Given the description of an element on the screen output the (x, y) to click on. 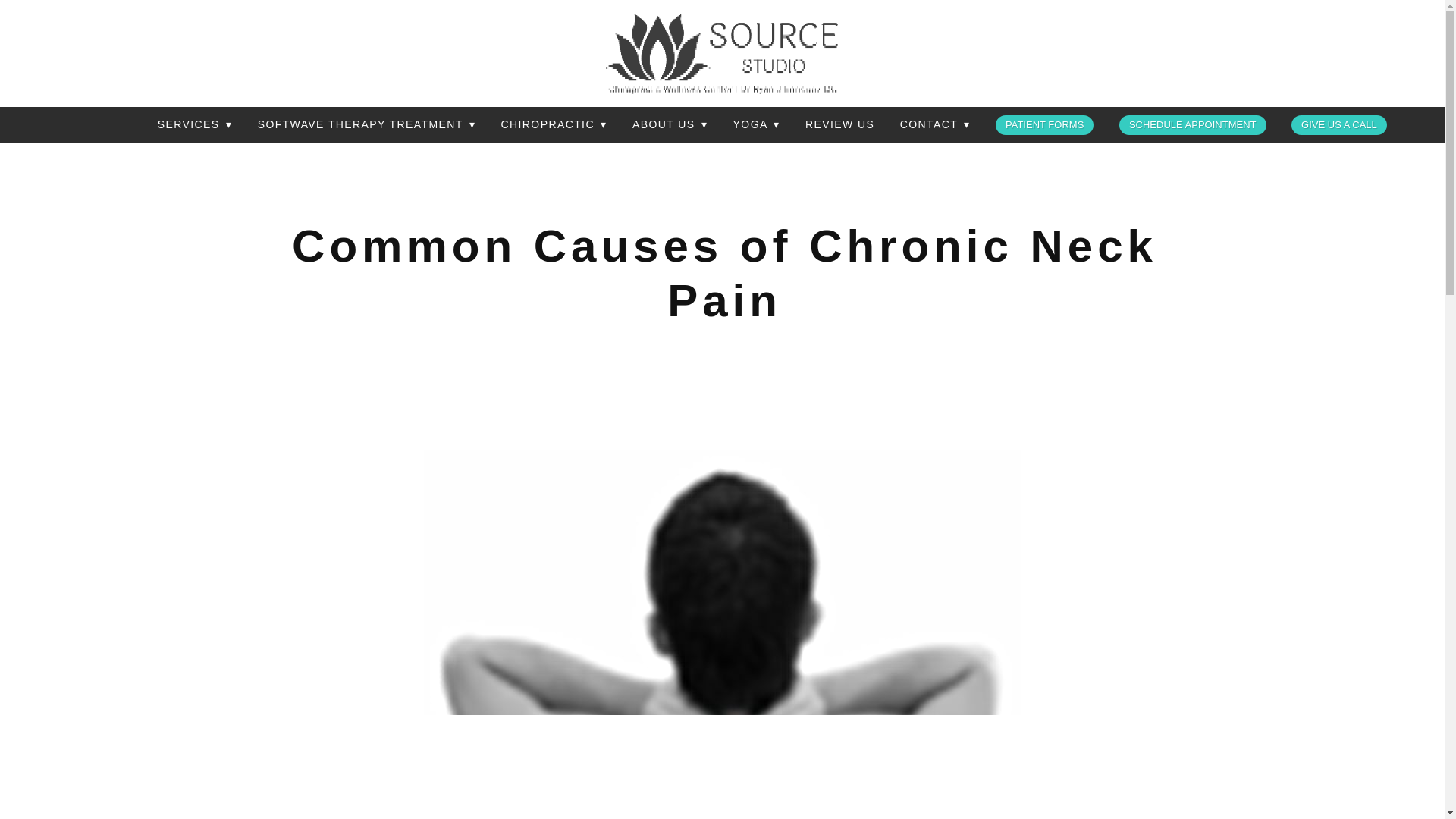
SCHEDULE APPOINTMENT (1192, 125)
PATIENT FORMS (1044, 125)
Source Studio (722, 53)
GIVE US A CALL (1339, 125)
REVIEW US (840, 124)
